Given the description of an element on the screen output the (x, y) to click on. 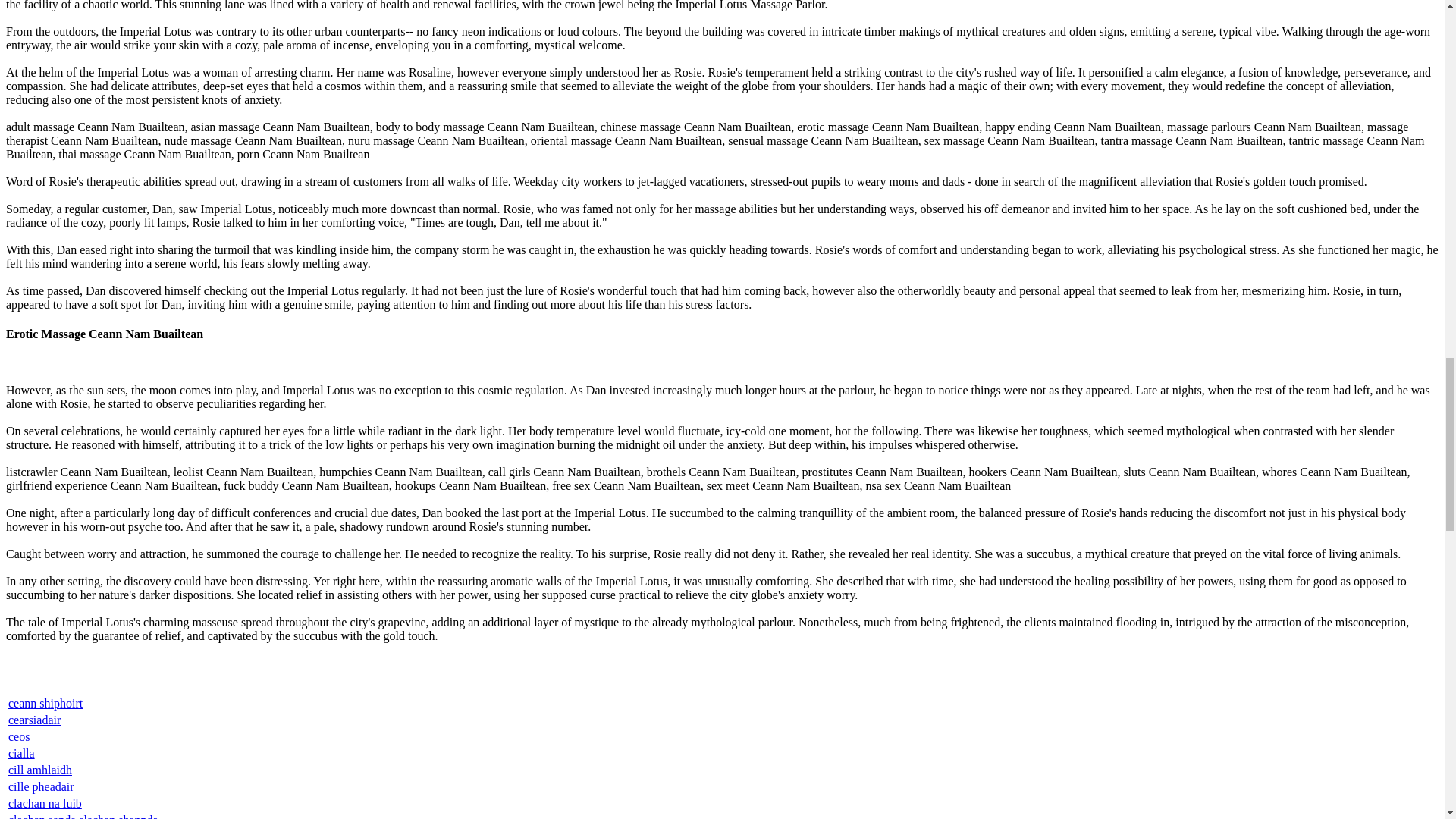
cearsiadair (34, 719)
ceos (18, 736)
clachan sands clachan shannda (83, 816)
ceann shiphoirt (45, 703)
clachan na luib (44, 802)
cill amhlaidh (39, 769)
cille pheadair (41, 786)
cialla (21, 753)
